Given the description of an element on the screen output the (x, y) to click on. 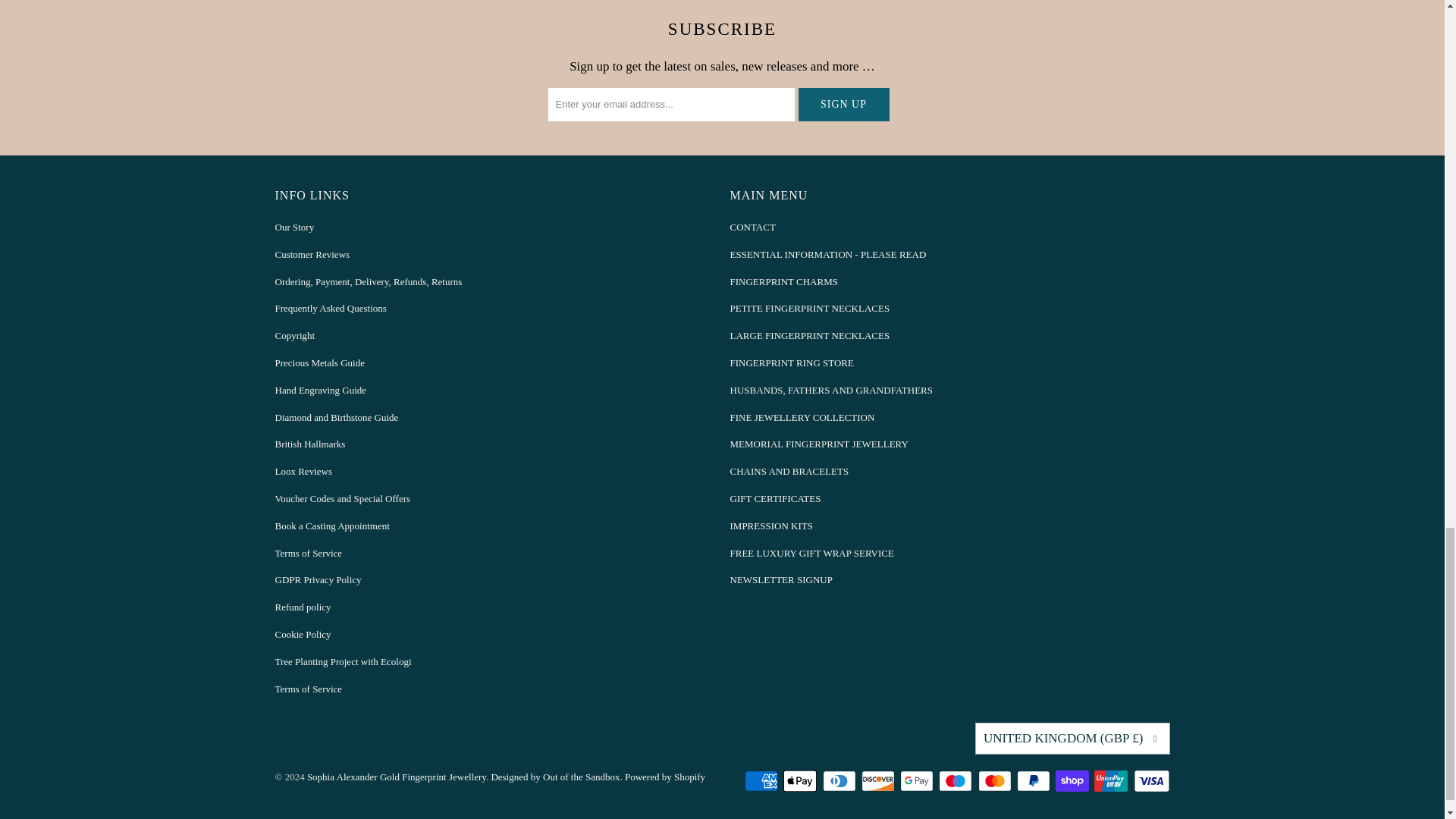
Mastercard (996, 780)
Visa (1150, 780)
Shop Pay (1073, 780)
Google Pay (917, 780)
PayPal (1034, 780)
Apple Pay (801, 780)
Sign Up (842, 104)
Diners Club (840, 780)
American Express (762, 780)
Discover (879, 780)
Union Pay (1112, 780)
Maestro (957, 780)
